Given the description of an element on the screen output the (x, y) to click on. 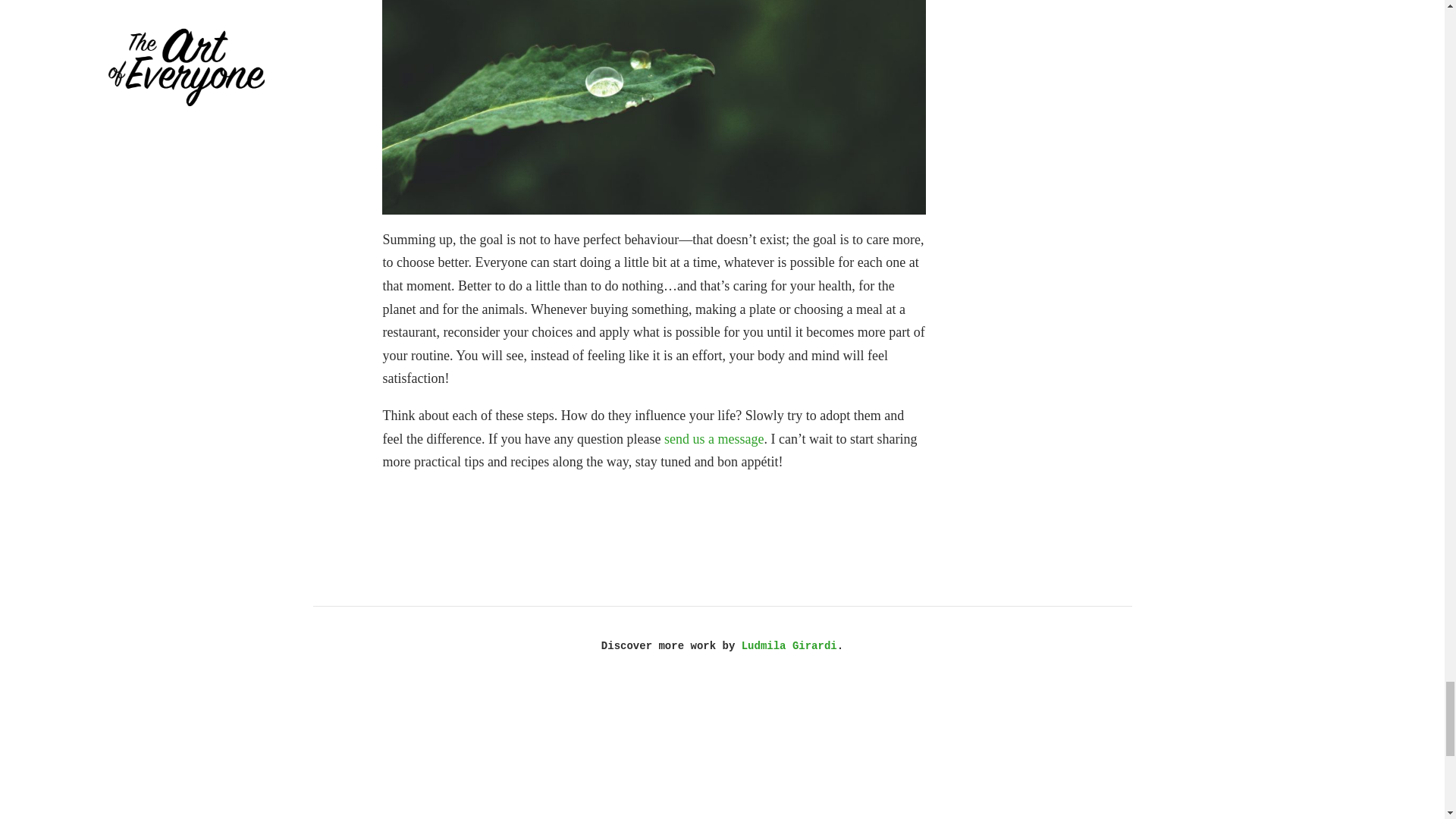
send us a message (712, 438)
Ludmila Girardi (789, 645)
